Given the description of an element on the screen output the (x, y) to click on. 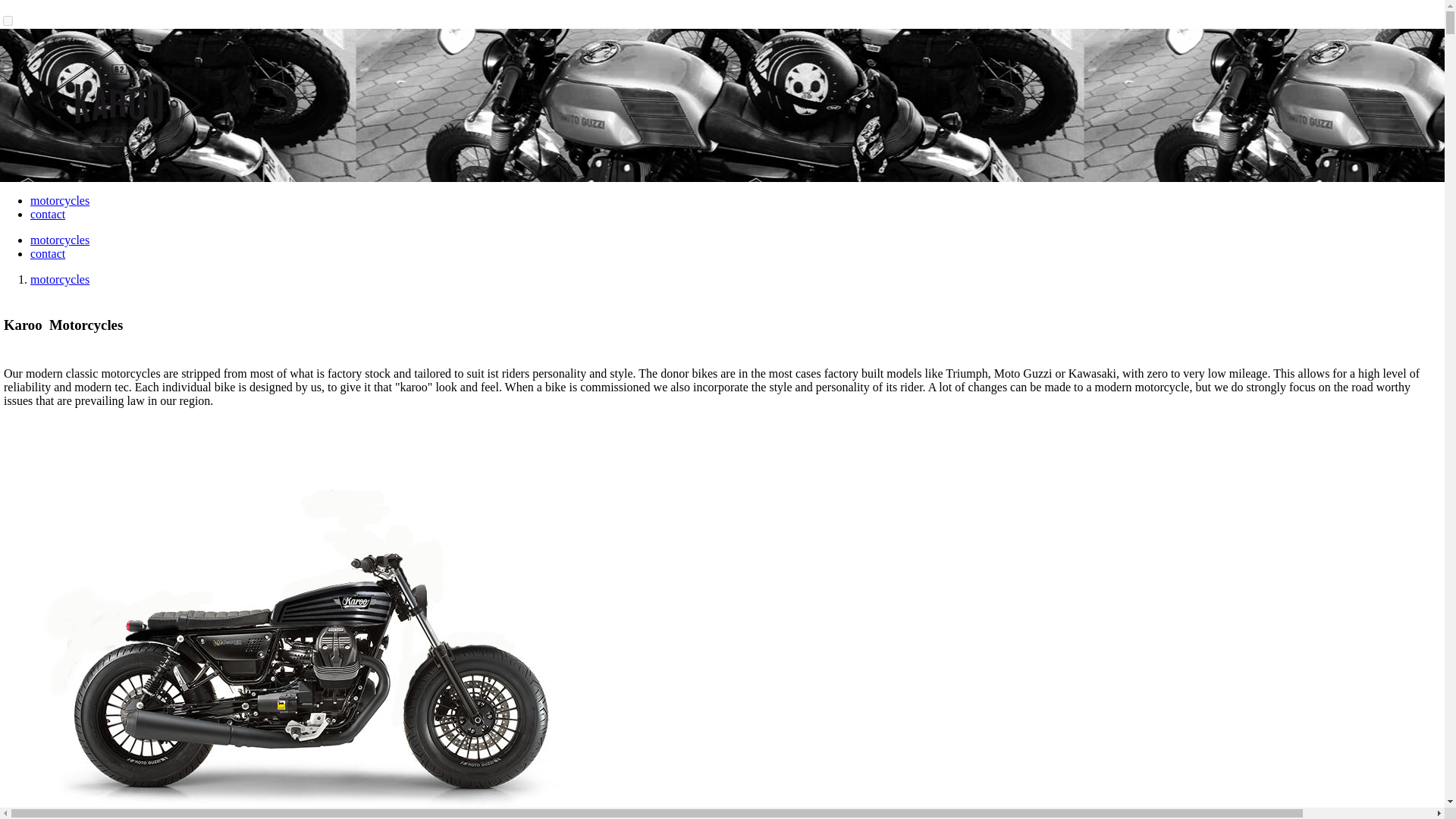
contact (47, 253)
motorcycles (59, 239)
motorcycles (59, 278)
on (7, 20)
contact (47, 214)
motorcycles (59, 200)
